Given the description of an element on the screen output the (x, y) to click on. 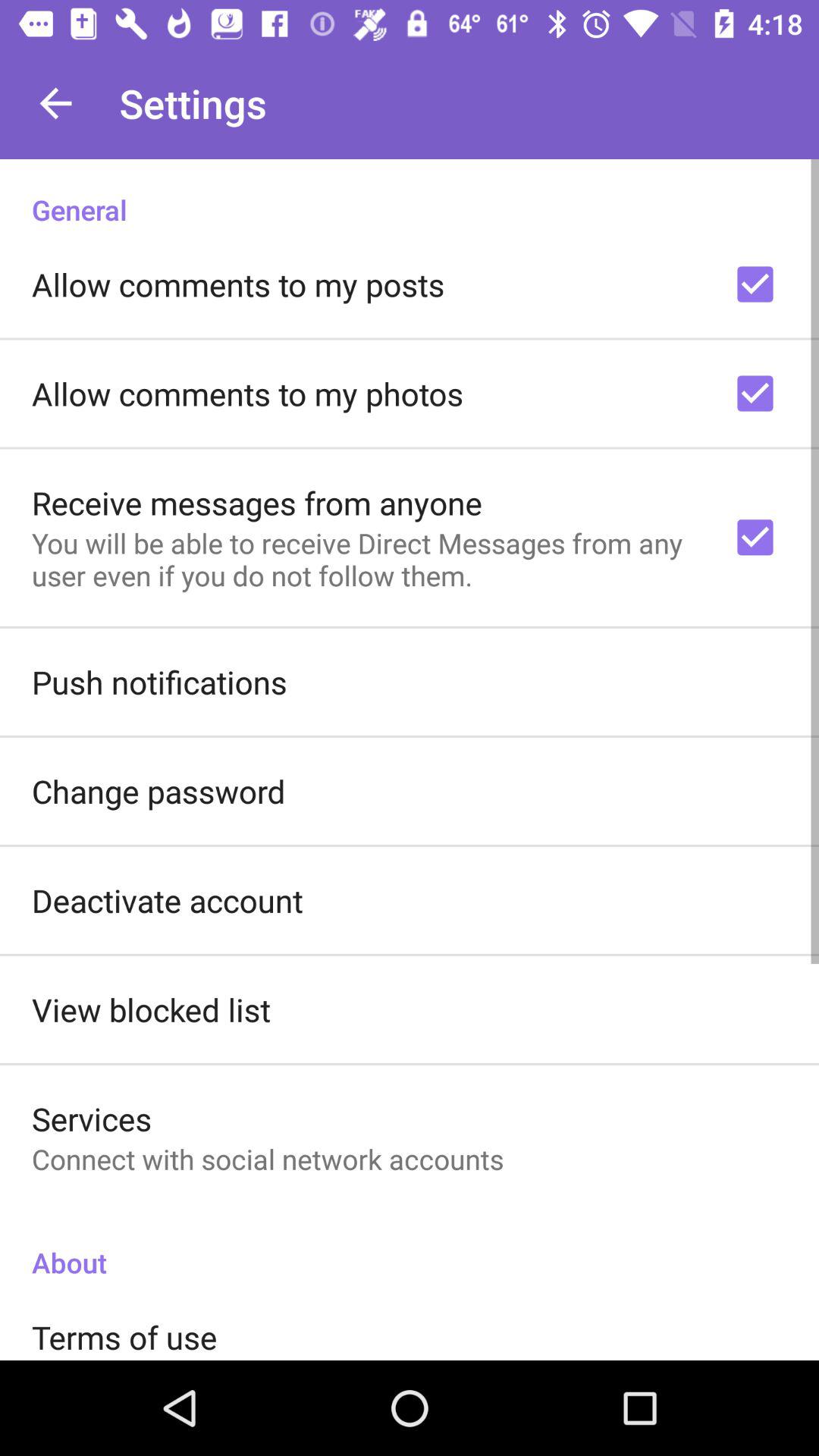
scroll to the change password item (158, 790)
